Given the description of an element on the screen output the (x, y) to click on. 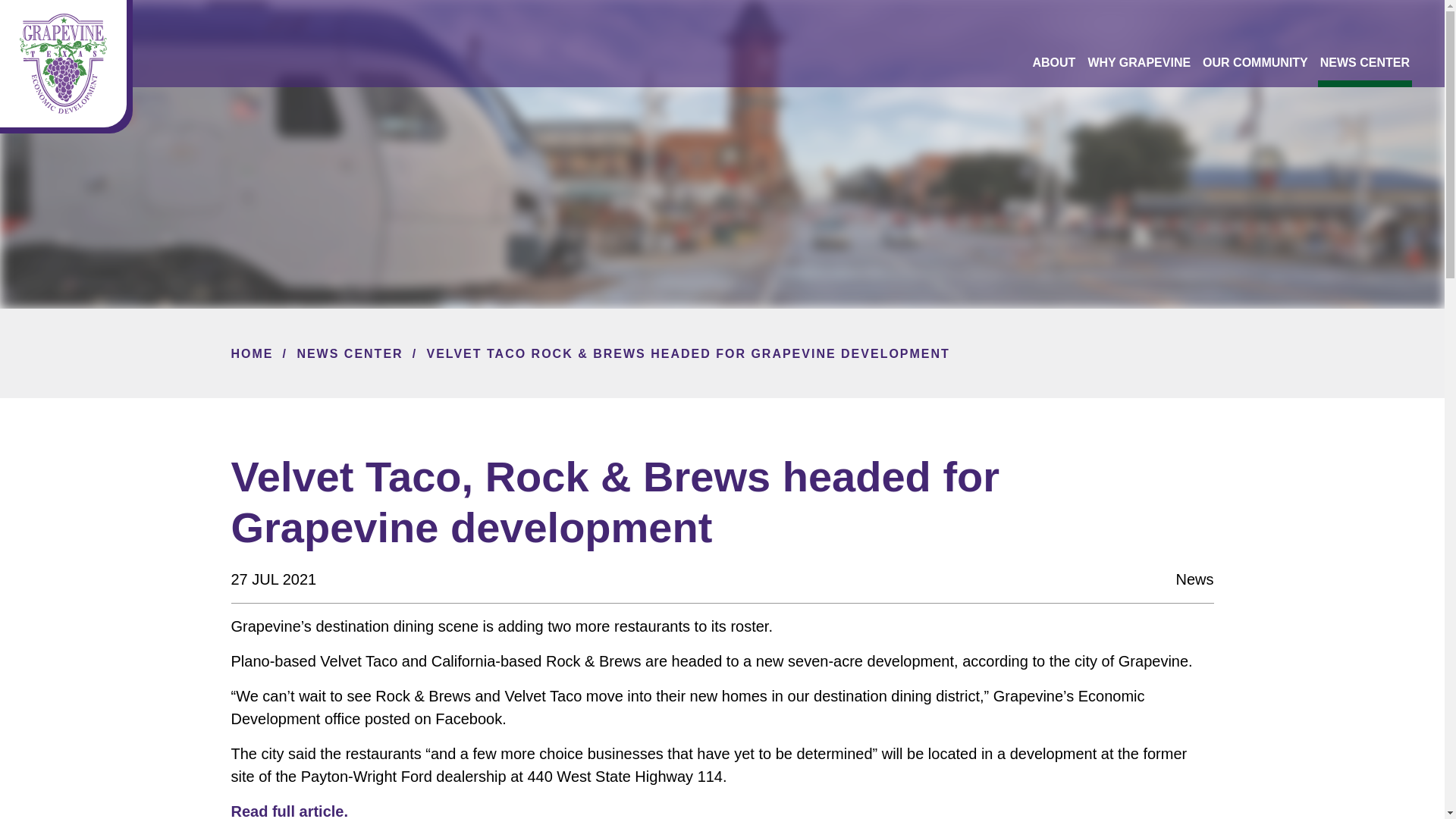
ABOUT (1053, 62)
WHY GRAPEVINE (1138, 62)
OUR COMMUNITY (1255, 62)
